Given the description of an element on the screen output the (x, y) to click on. 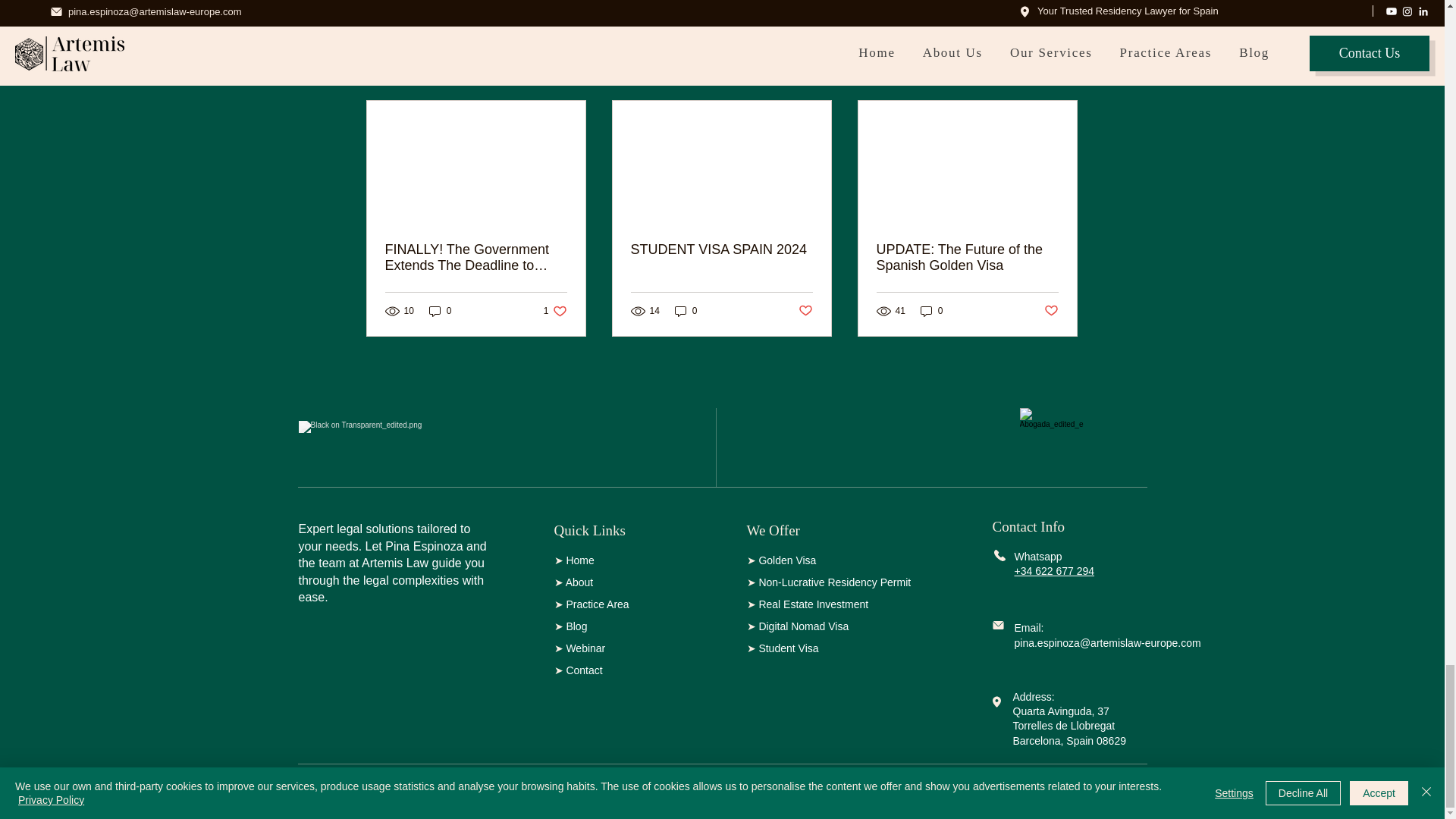
See All (1061, 74)
0 (555, 310)
